Given the description of an element on the screen output the (x, y) to click on. 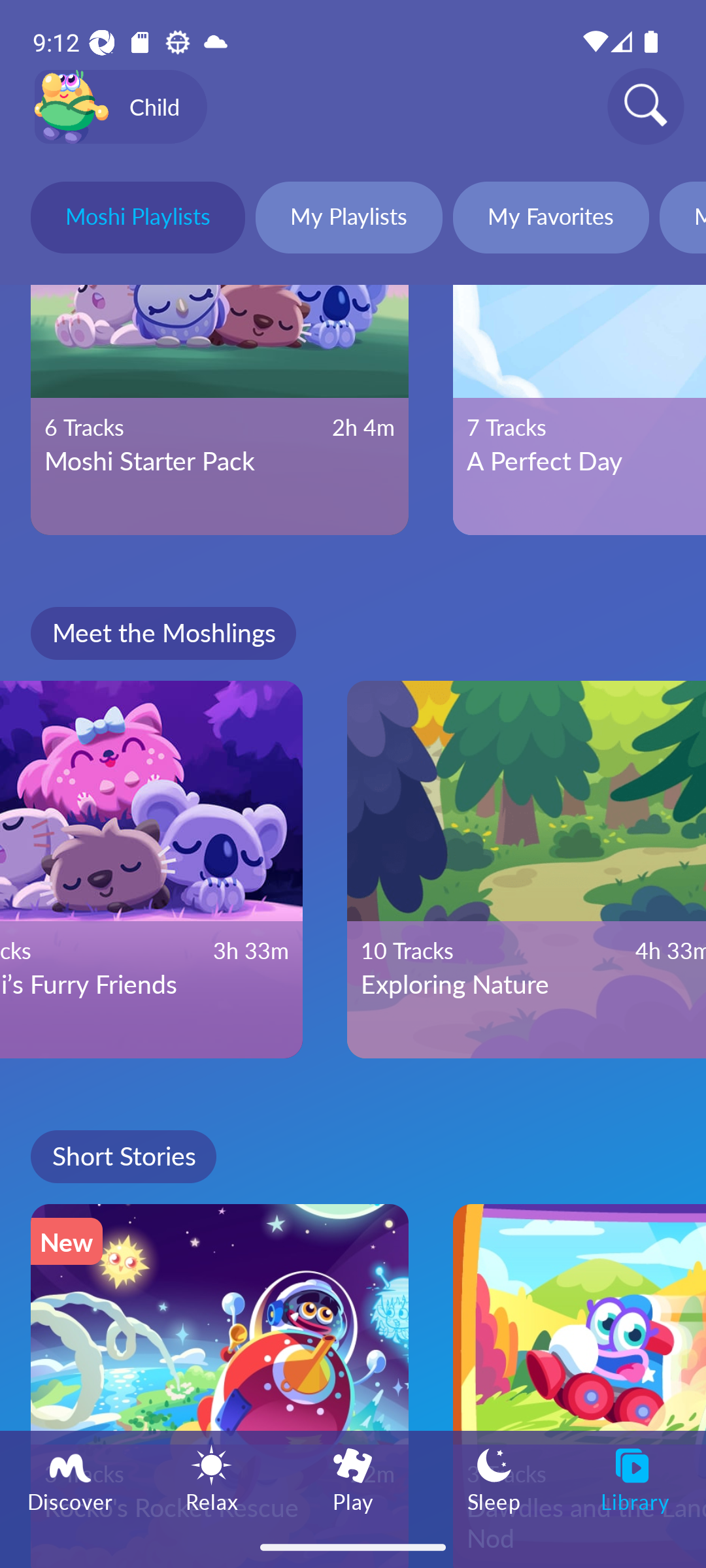
Profile icon Child (120, 107)
Moshi Playlists (137, 219)
My Playlists (348, 219)
My Favorites (550, 219)
Featured Content 6 Tracks Moshi Starter Pack 2h 4m (219, 409)
Featured Content 7 Tracks A Perfect Day (579, 409)
Featured Content 10 Tracks Exploring Nature 4h 33m (526, 869)
Discover (70, 1478)
Relax (211, 1478)
Play (352, 1478)
Sleep (493, 1478)
